Given the description of an element on the screen output the (x, y) to click on. 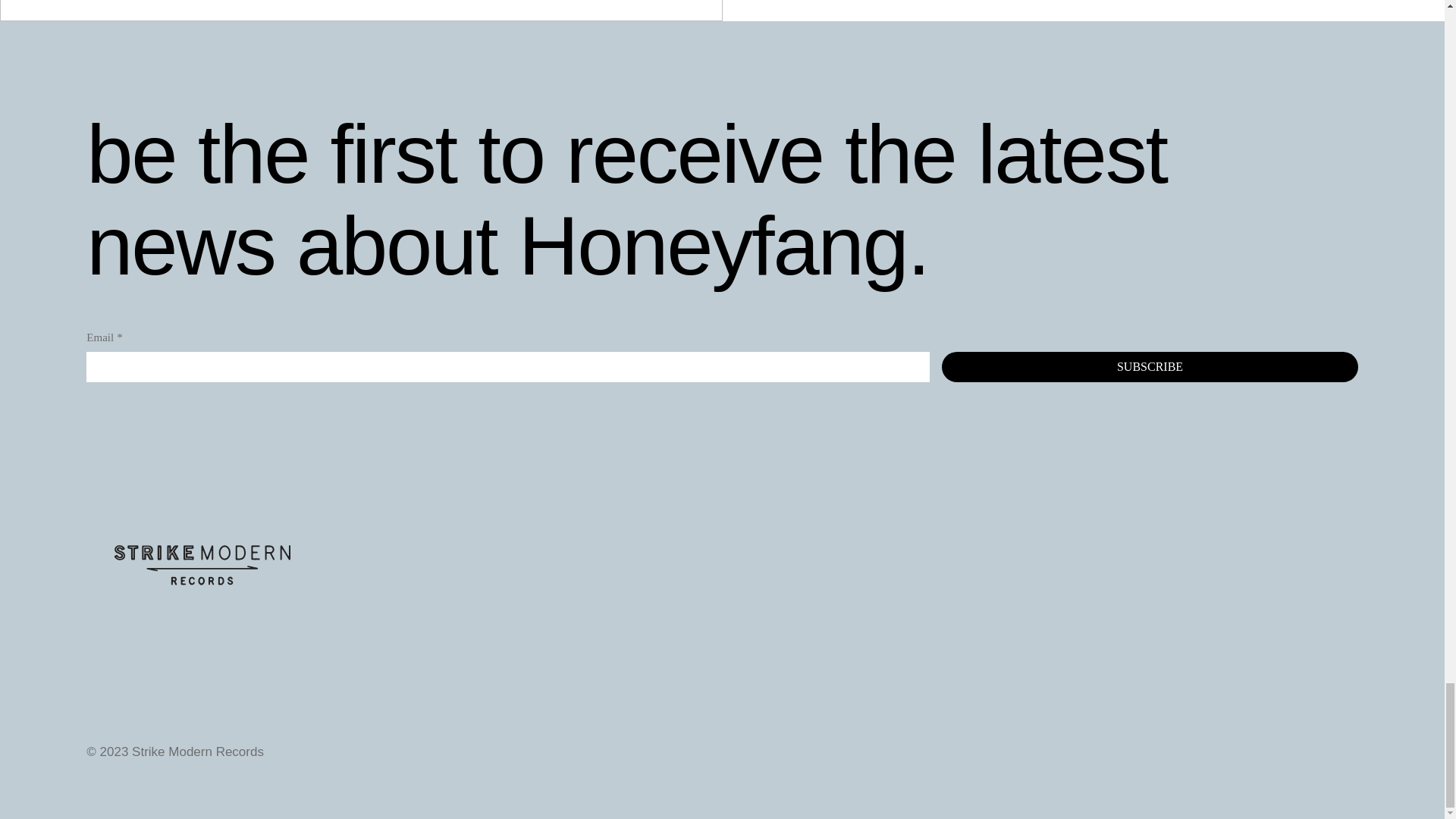
SUBSCRIBE (1149, 367)
